Given the description of an element on the screen output the (x, y) to click on. 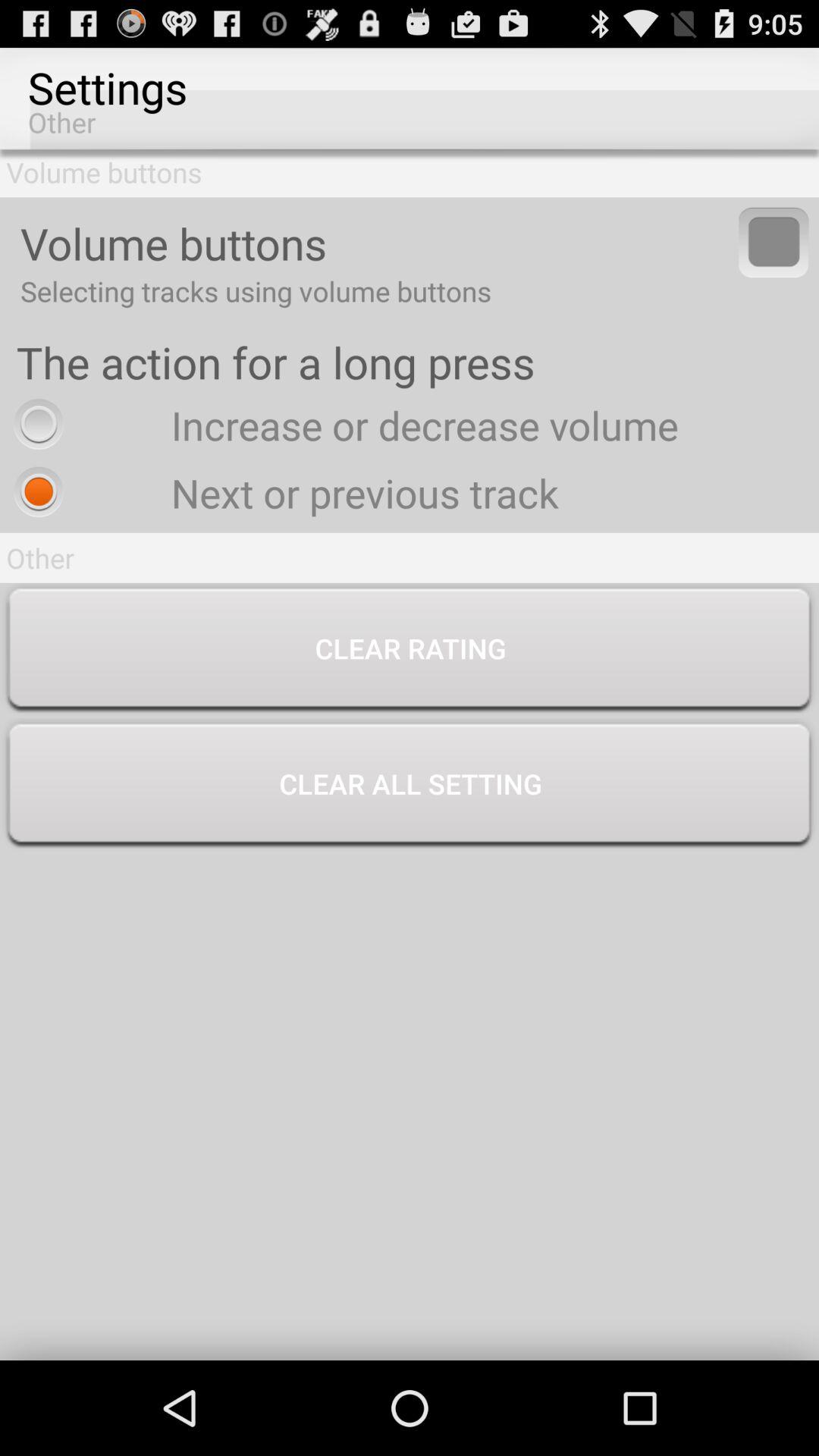
flip to the increase or decrease (342, 424)
